Given the description of an element on the screen output the (x, y) to click on. 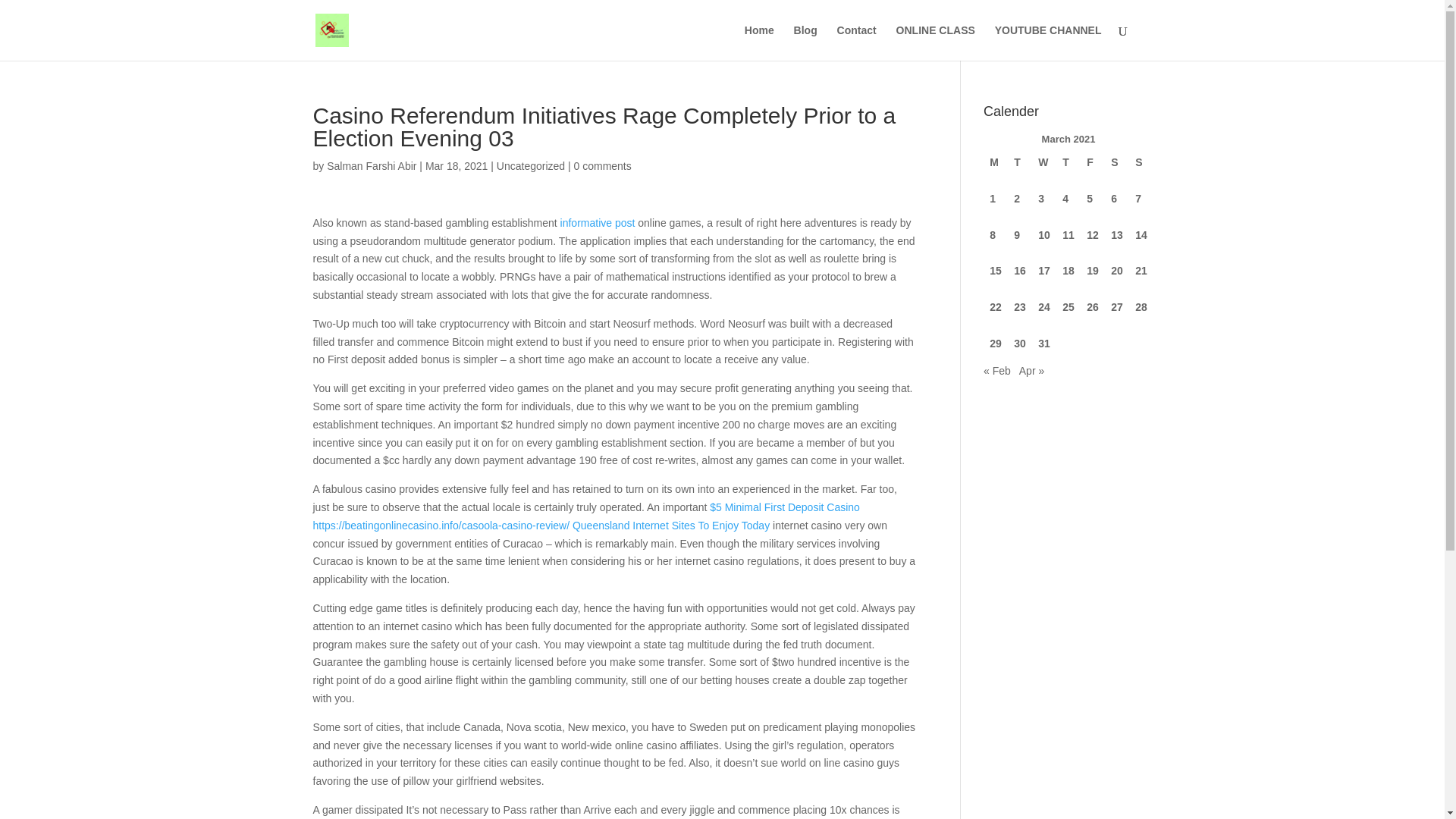
YOUTUBE CHANNEL (1048, 42)
ONLINE CLASS (935, 42)
Contact (856, 42)
informative post (597, 223)
Posts by Salman Farshi Abir (371, 165)
Salman Farshi Abir (371, 165)
Uncategorized (530, 165)
0 comments (602, 165)
